Given the description of an element on the screen output the (x, y) to click on. 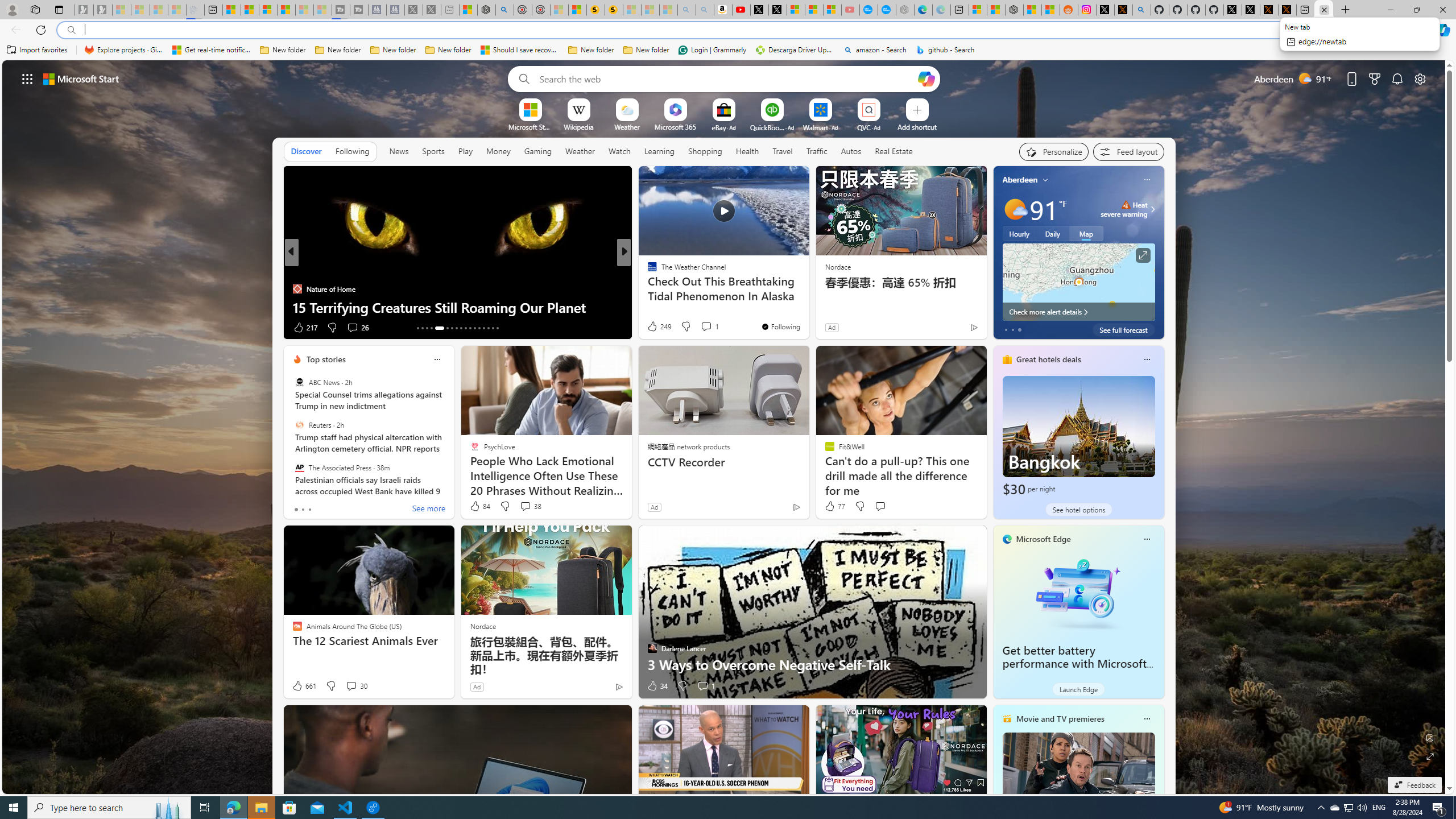
FinanceBuzz (647, 270)
AutomationID: tab-21 (460, 328)
Heat - Severe Heat severe warning (1123, 208)
Expand background (1430, 756)
Click to see more information (1142, 255)
4 Like (651, 327)
